Given the description of an element on the screen output the (x, y) to click on. 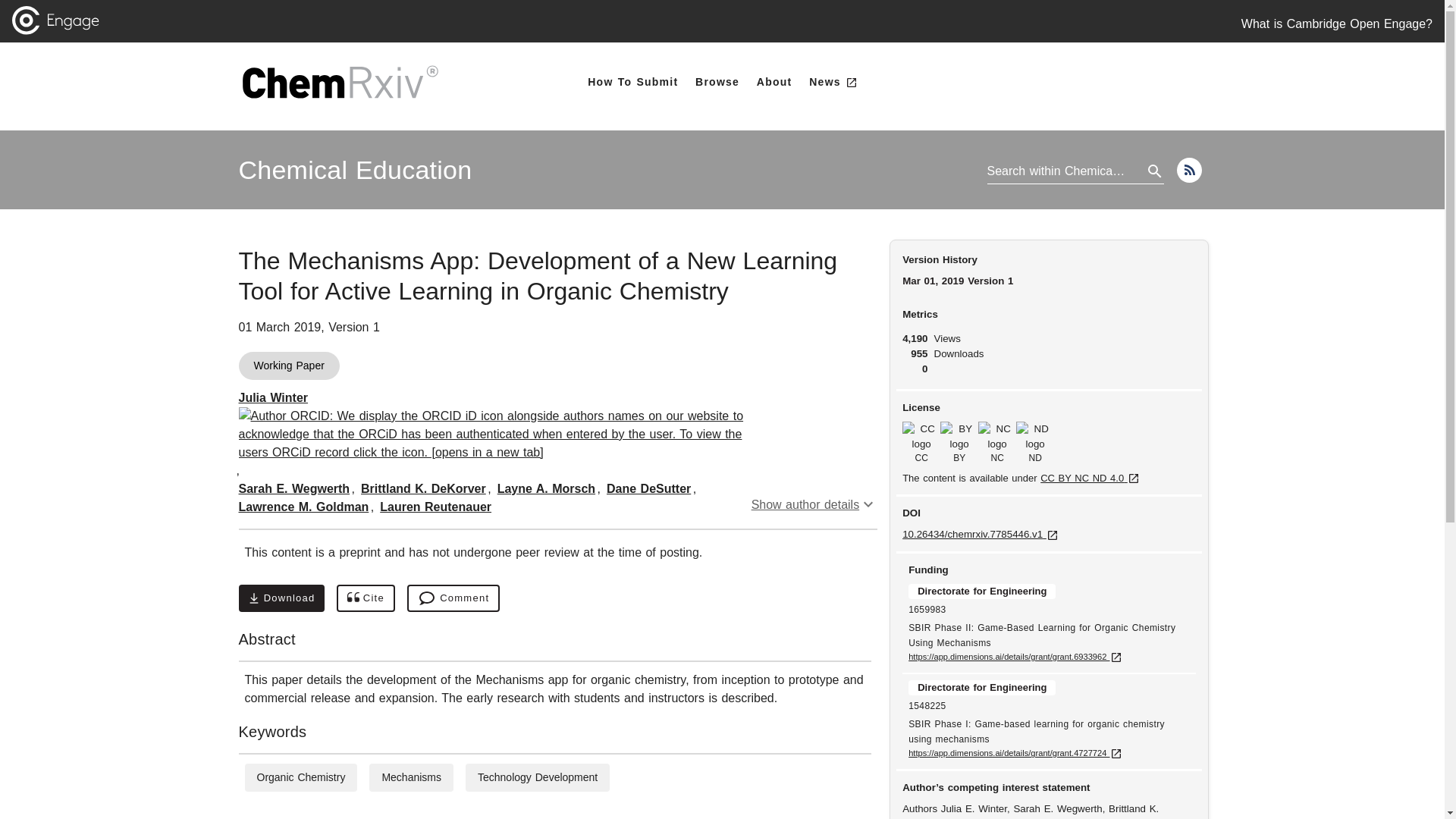
Sarah E. Wegwerth (293, 488)
Lawrence M. Goldman (303, 506)
Cite (354, 169)
Layne A. Morsch (365, 597)
Download (546, 488)
How To Submit (280, 597)
Dane DeSutter (632, 81)
About (648, 488)
Julia Winter (773, 81)
